Given the description of an element on the screen output the (x, y) to click on. 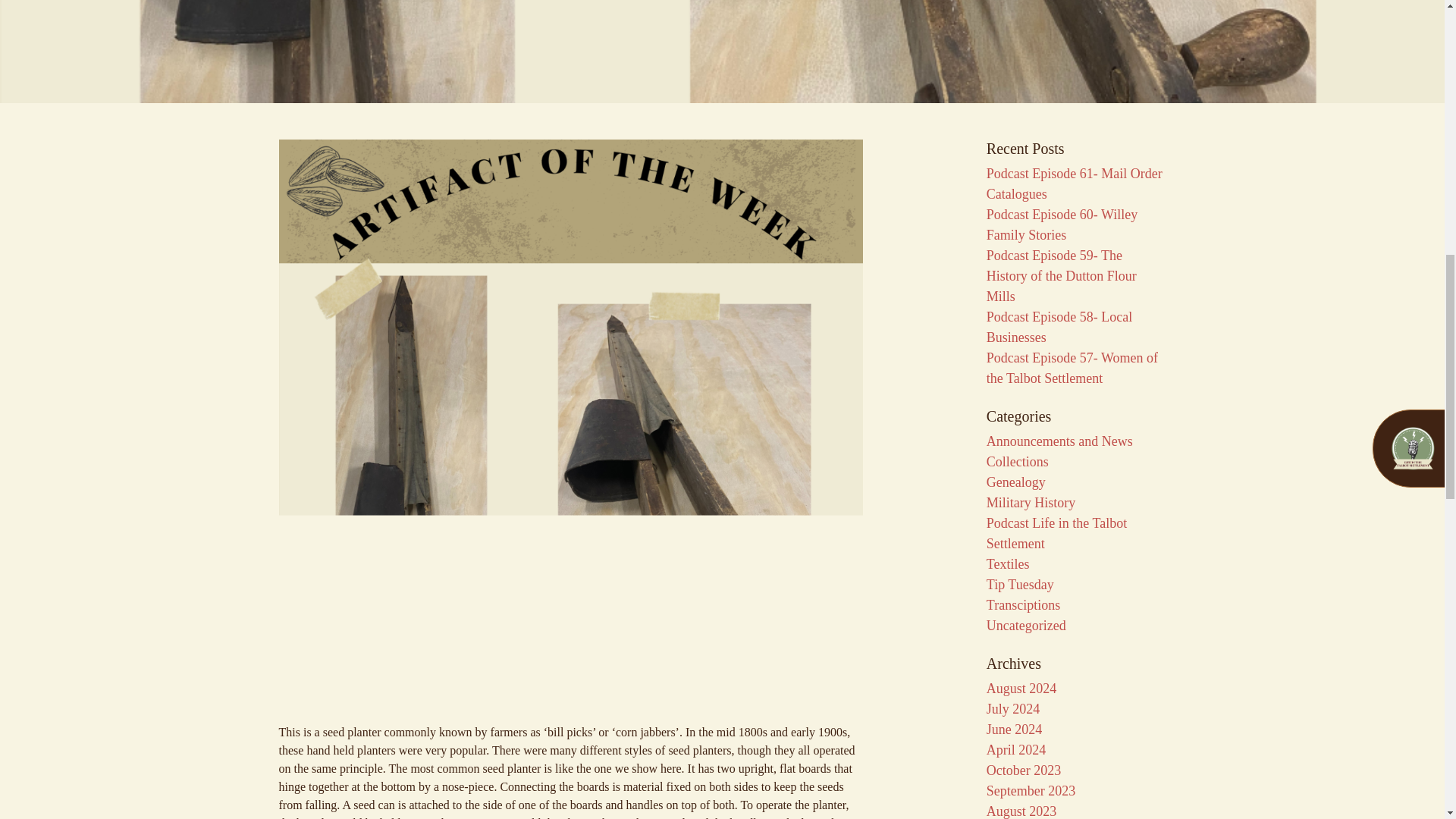
September 2023 (1031, 790)
Podcast Life in the Talbot Settlement (1056, 533)
October 2023 (1024, 770)
Uncategorized (1026, 625)
June 2024 (1014, 729)
July 2024 (1014, 708)
Podcast Episode 57- Women of the Talbot Settlement (1072, 367)
Podcast Episode 58- Local Businesses (1059, 326)
Podcast Episode 60- Willey Family Stories (1062, 224)
Tip Tuesday (1020, 584)
